Given the description of an element on the screen output the (x, y) to click on. 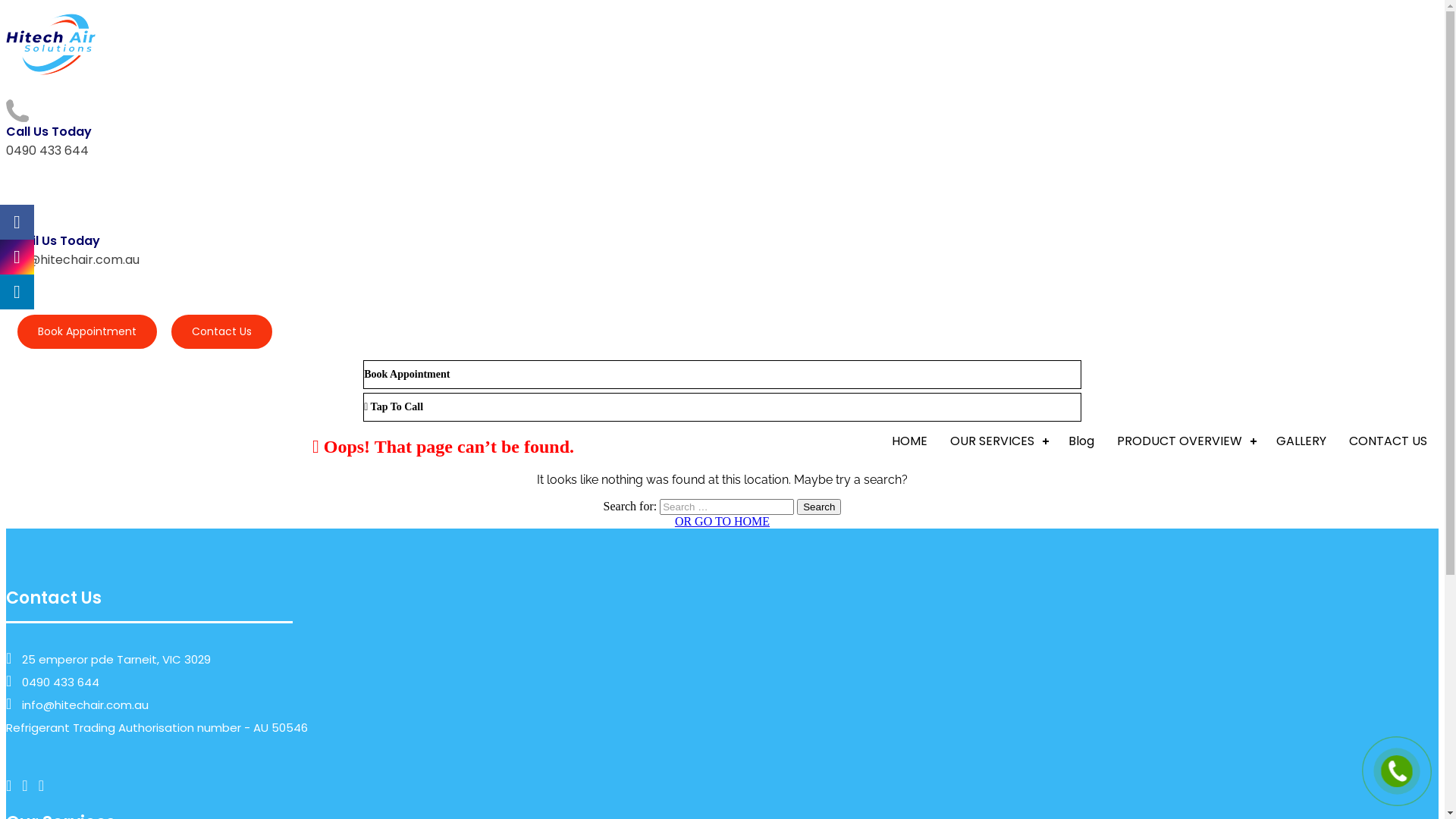
OUR SERVICES Element type: text (997, 441)
Tap To Call Element type: text (722, 406)
Book Appointment Element type: text (81, 330)
GALLERY Element type: text (1300, 441)
. Element type: text (1396, 771)
CONTACT US Element type: text (1387, 441)
Book Appointment Element type: text (86, 331)
Search Element type: text (818, 506)
0490 433 644 Element type: text (60, 682)
Hitech Air Solutions Element type: hover (50, 44)
Book Appointment Element type: text (722, 374)
HOME Element type: text (909, 441)
share with: facebook Element type: hover (17, 221)
Refrigerant Trading Authorisation number - AU 50546 Element type: text (156, 727)
Contact Us Element type: text (221, 331)
info@hitechair.com.au Element type: text (72, 259)
PRODUCT OVERVIEW Element type: text (1184, 441)
share with: linkedin Element type: hover (17, 291)
share with: instagram Element type: hover (17, 256)
info@hitechair.com.au Element type: text (84, 704)
Blog Element type: text (1081, 441)
0490 433 644 Element type: text (47, 150)
Contact Us Element type: text (216, 330)
OR GO TO HOME Element type: text (721, 520)
